Given the description of an element on the screen output the (x, y) to click on. 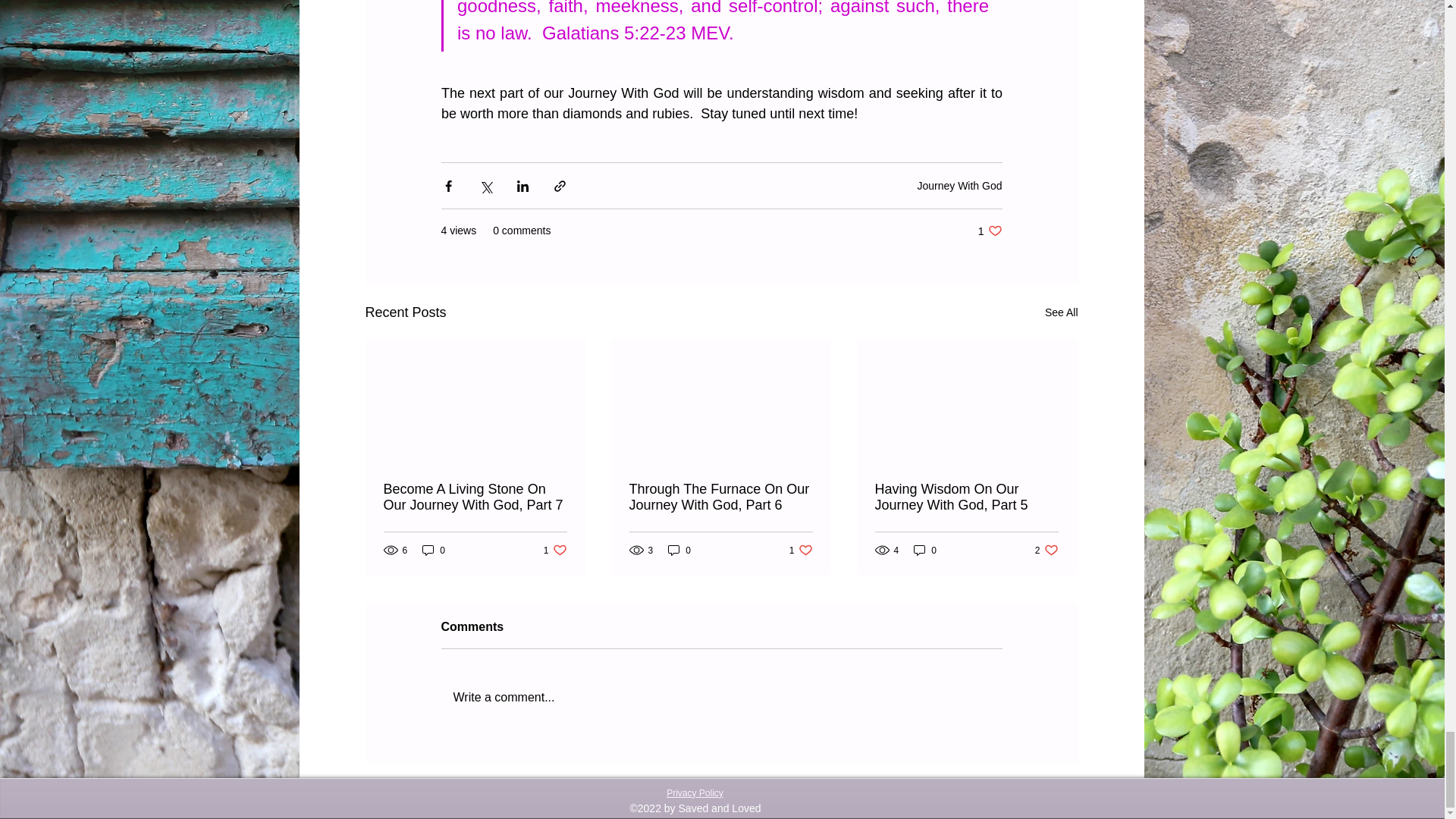
Journey With God (959, 185)
Become A Living Stone On Our Journey With God, Part 7 (555, 549)
See All (990, 230)
0 (475, 497)
0 (1061, 312)
Through The Furnace On Our Journey With God, Part 6 (800, 549)
